Given the description of an element on the screen output the (x, y) to click on. 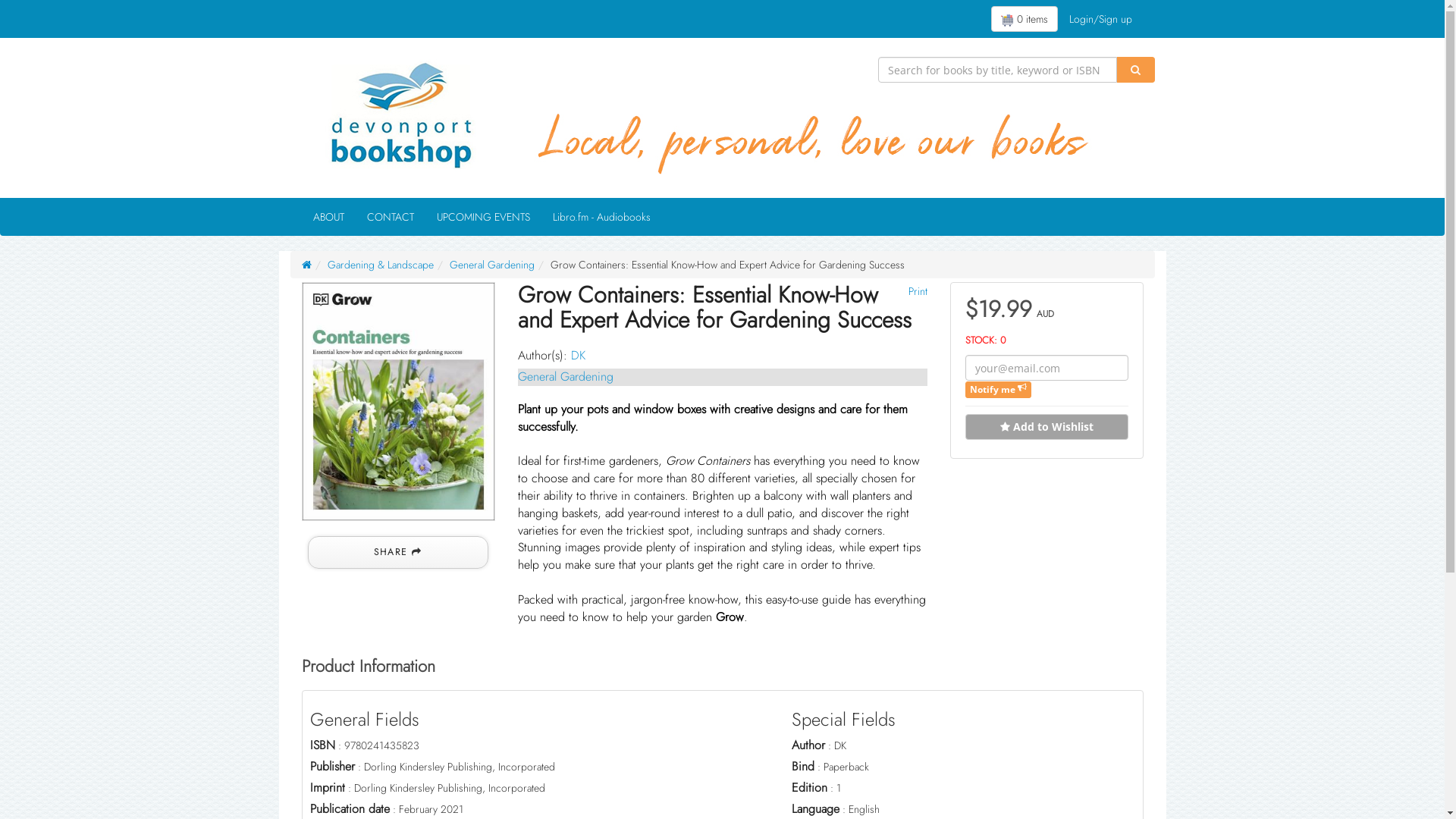
Add to Wishlist Element type: text (1045, 426)
 Print Element type: text (916, 290)
0 items Element type: text (1023, 18)
General Gardening Element type: text (490, 264)
Gardening & Landscape Element type: text (380, 264)
UPCOMING EVENTS Element type: text (482, 216)
General Gardening Element type: text (564, 376)
Libro.fm - Audiobooks Element type: text (601, 216)
DK Element type: text (577, 355)
SHARE Element type: text (397, 552)
0 items Element type: text (1023, 18)
ABOUT Element type: text (328, 216)
CONTACT Element type: text (389, 216)
Login/Sign up Element type: text (1099, 18)
Notify me Element type: text (997, 389)
